Given the description of an element on the screen output the (x, y) to click on. 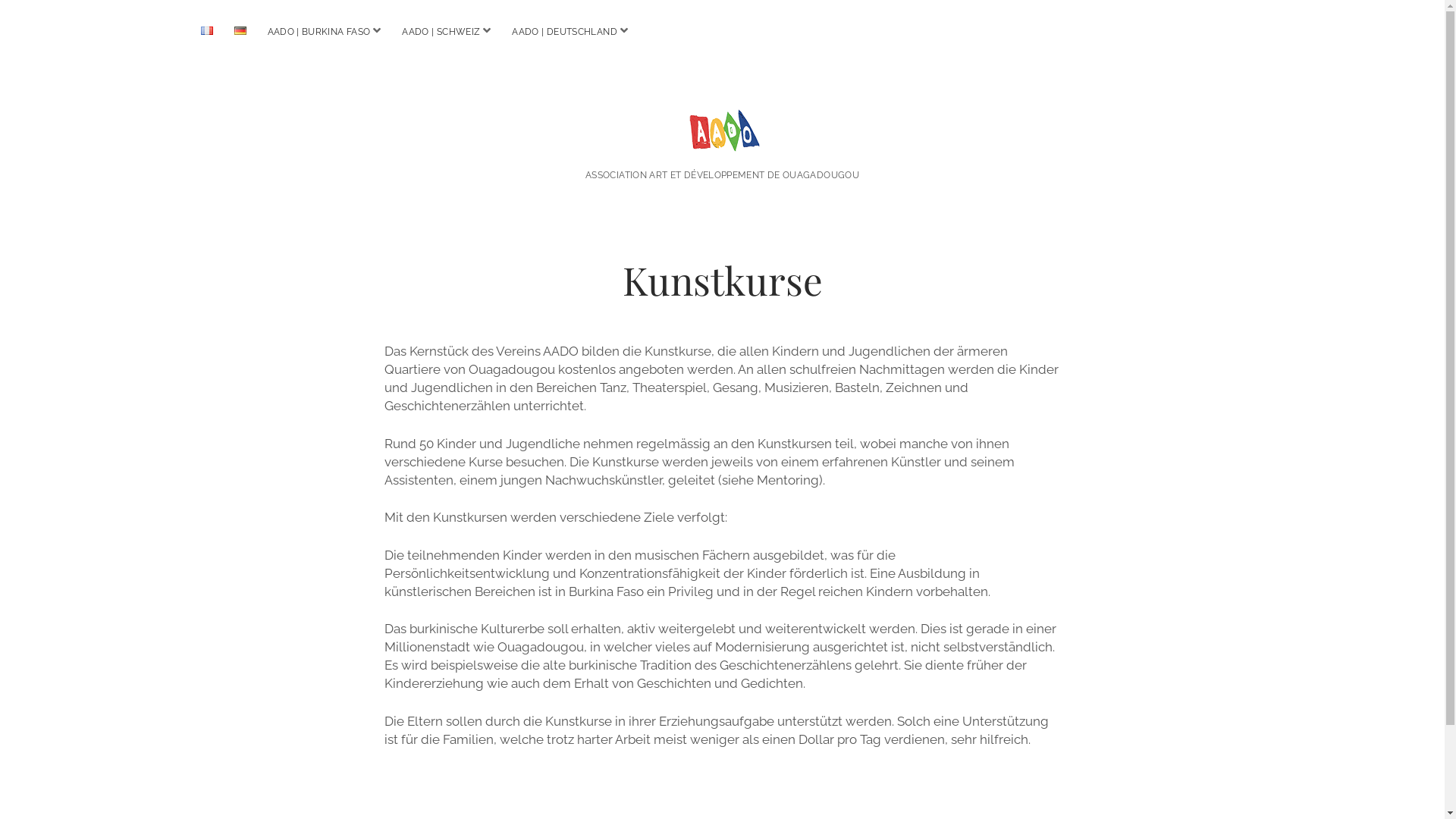
AADO | DEUTSCHLAND Element type: text (563, 31)
Deutsch Element type: hover (239, 30)
AADO Element type: text (721, 133)
AADO | BURKINA FASO Element type: text (318, 31)
AADO | SCHWEIZ Element type: text (440, 31)
